Given the description of an element on the screen output the (x, y) to click on. 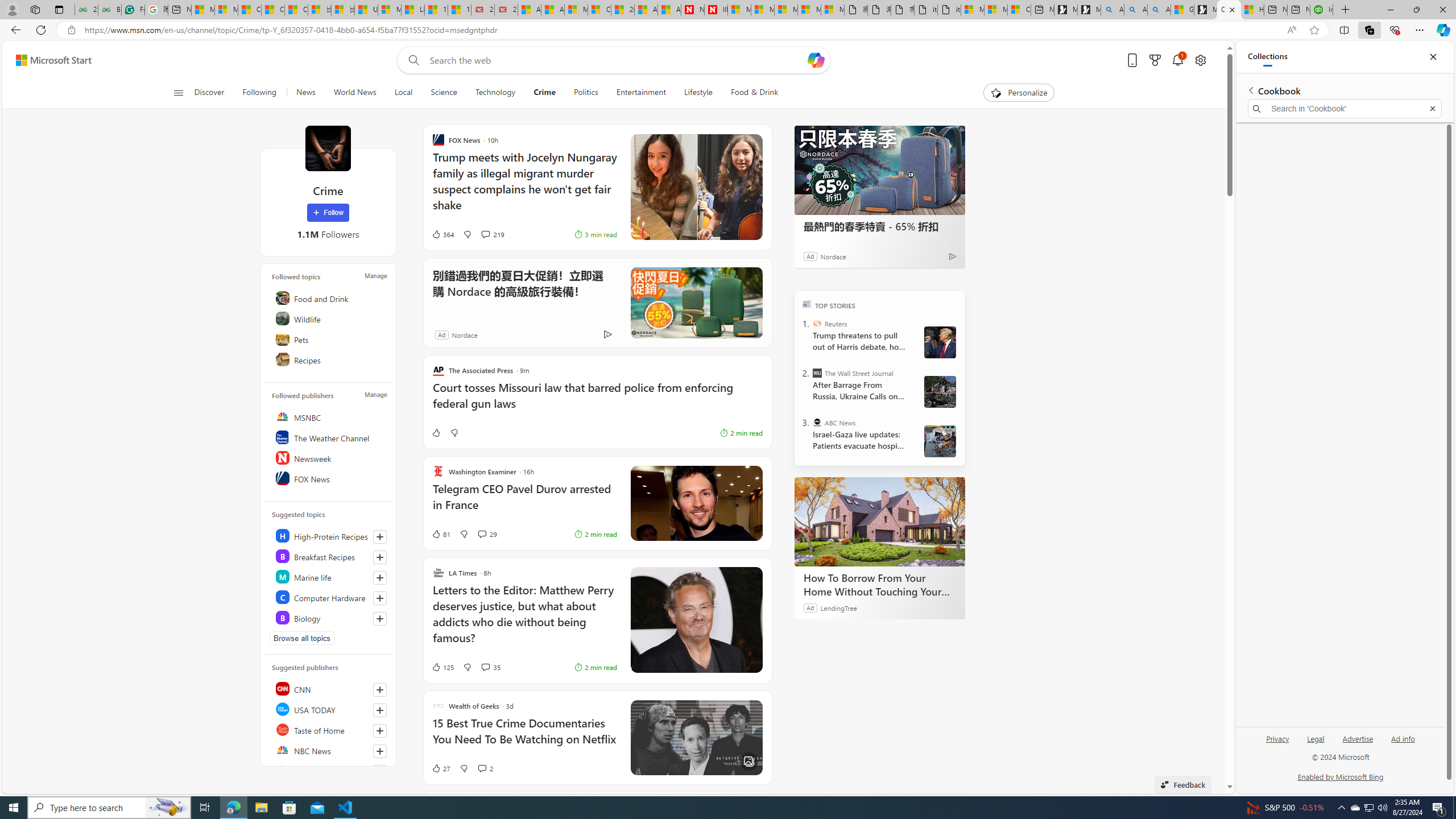
364 Like (442, 233)
Back to list of collections (1250, 90)
20 Ways to Boost Your Protein Intake at Every Meal (622, 9)
Cloud Computing Services | Microsoft Azure (598, 9)
Taste of Home (328, 729)
